Given the description of an element on the screen output the (x, y) to click on. 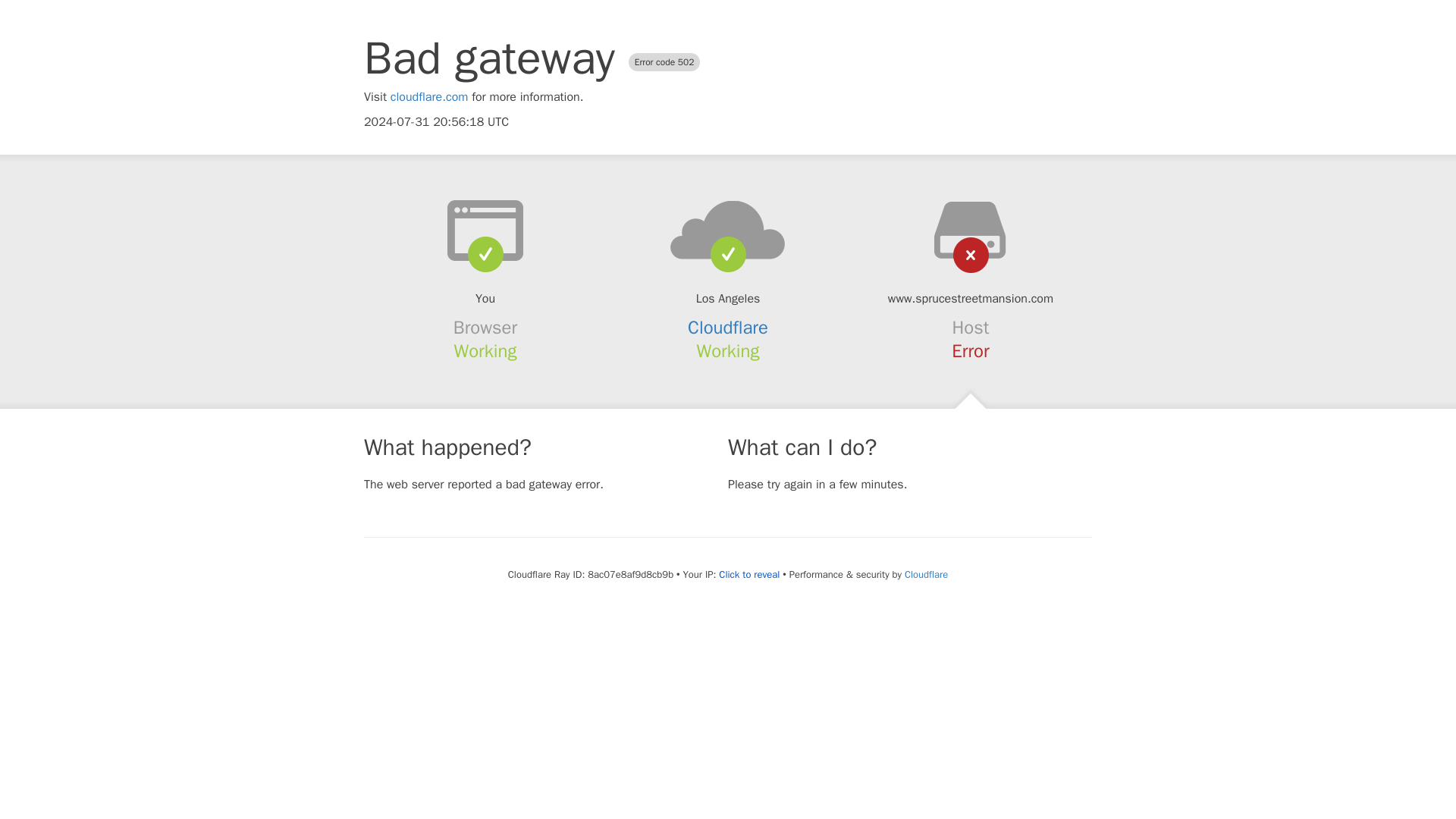
Click to reveal (748, 574)
Cloudflare (925, 574)
Cloudflare (727, 327)
cloudflare.com (429, 96)
